Given the description of an element on the screen output the (x, y) to click on. 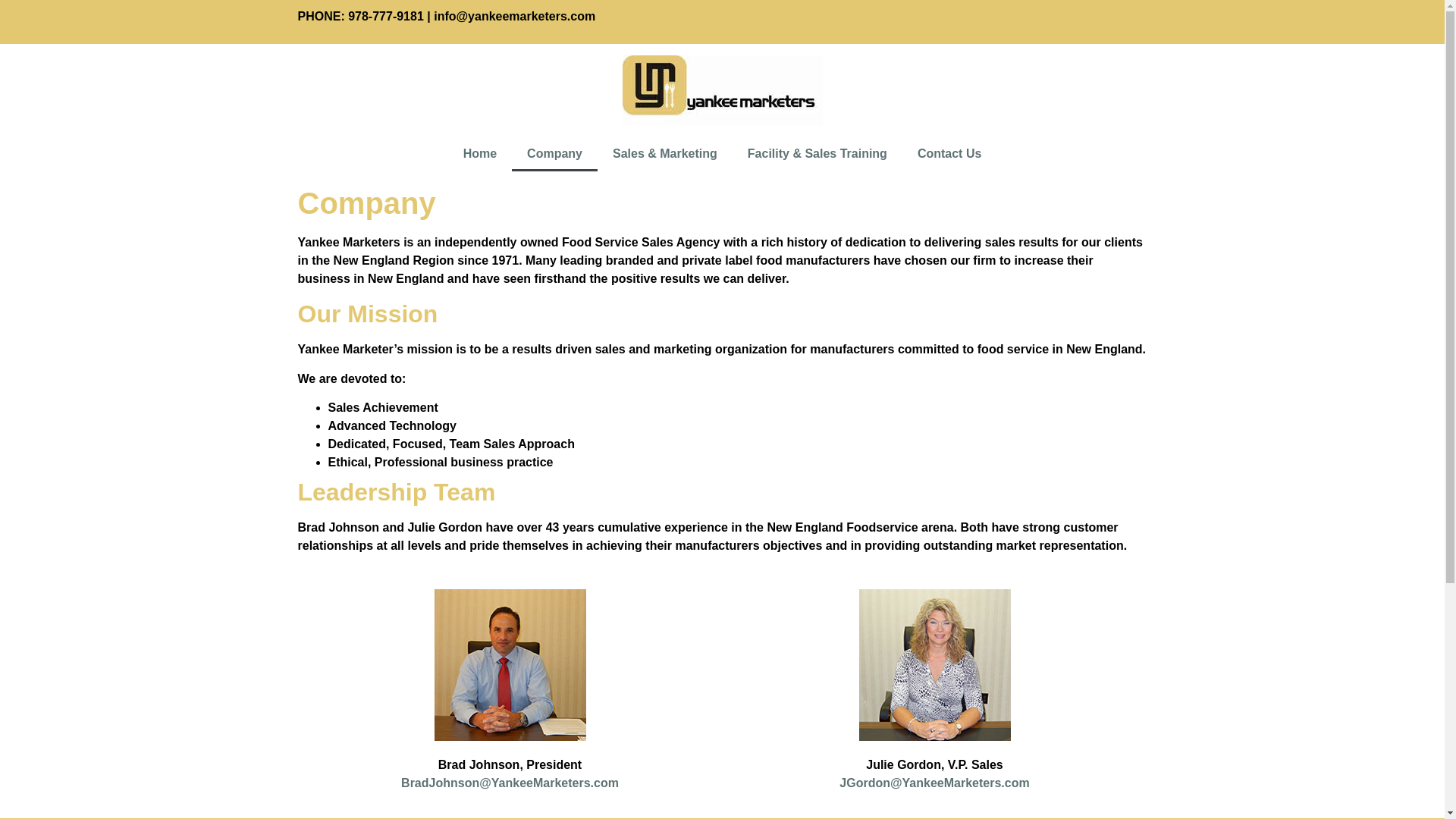
Contact Us (948, 153)
Home (480, 153)
Company (554, 153)
